Given the description of an element on the screen output the (x, y) to click on. 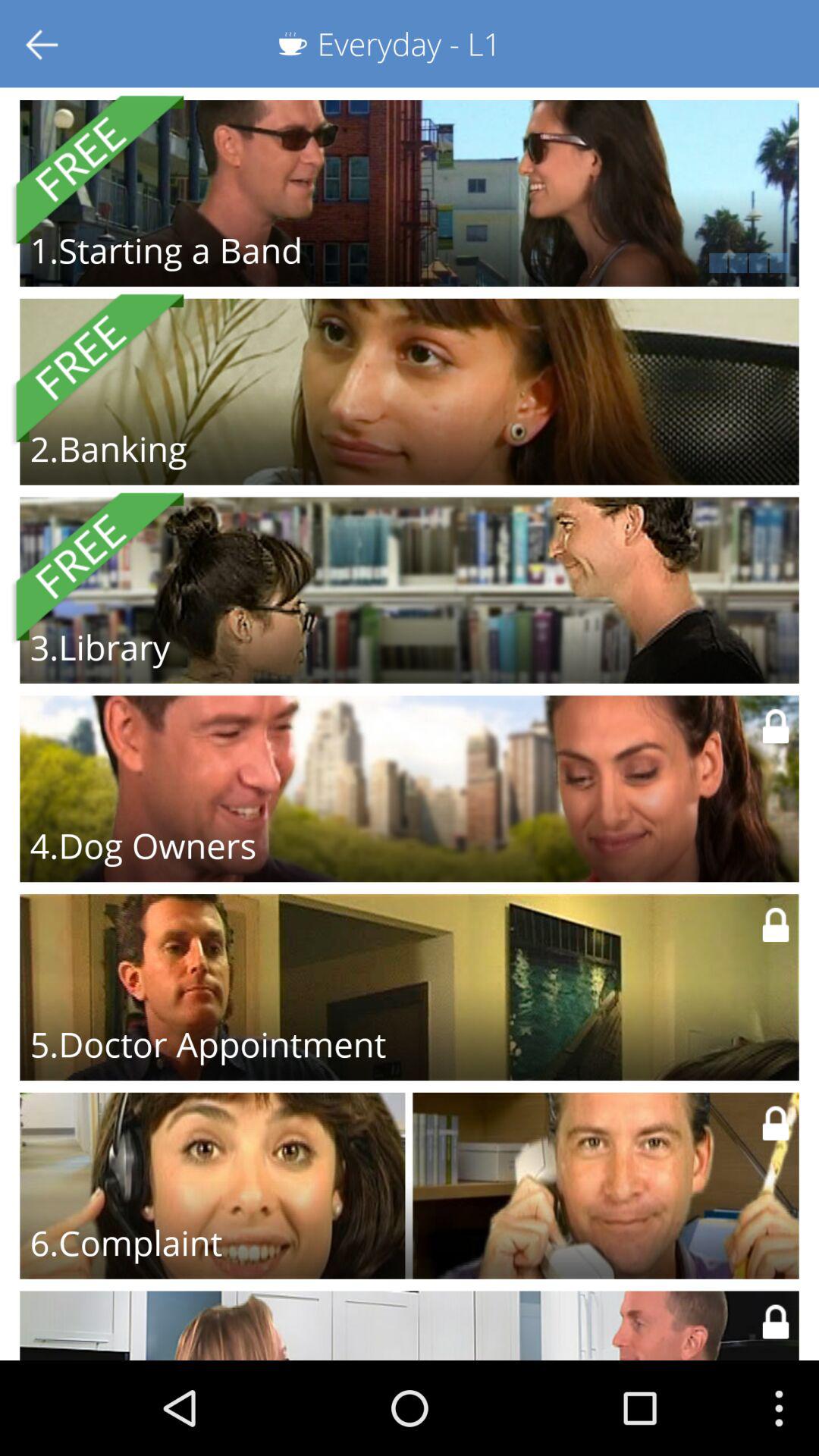
turn off 6.complaint icon (126, 1242)
